Given the description of an element on the screen output the (x, y) to click on. 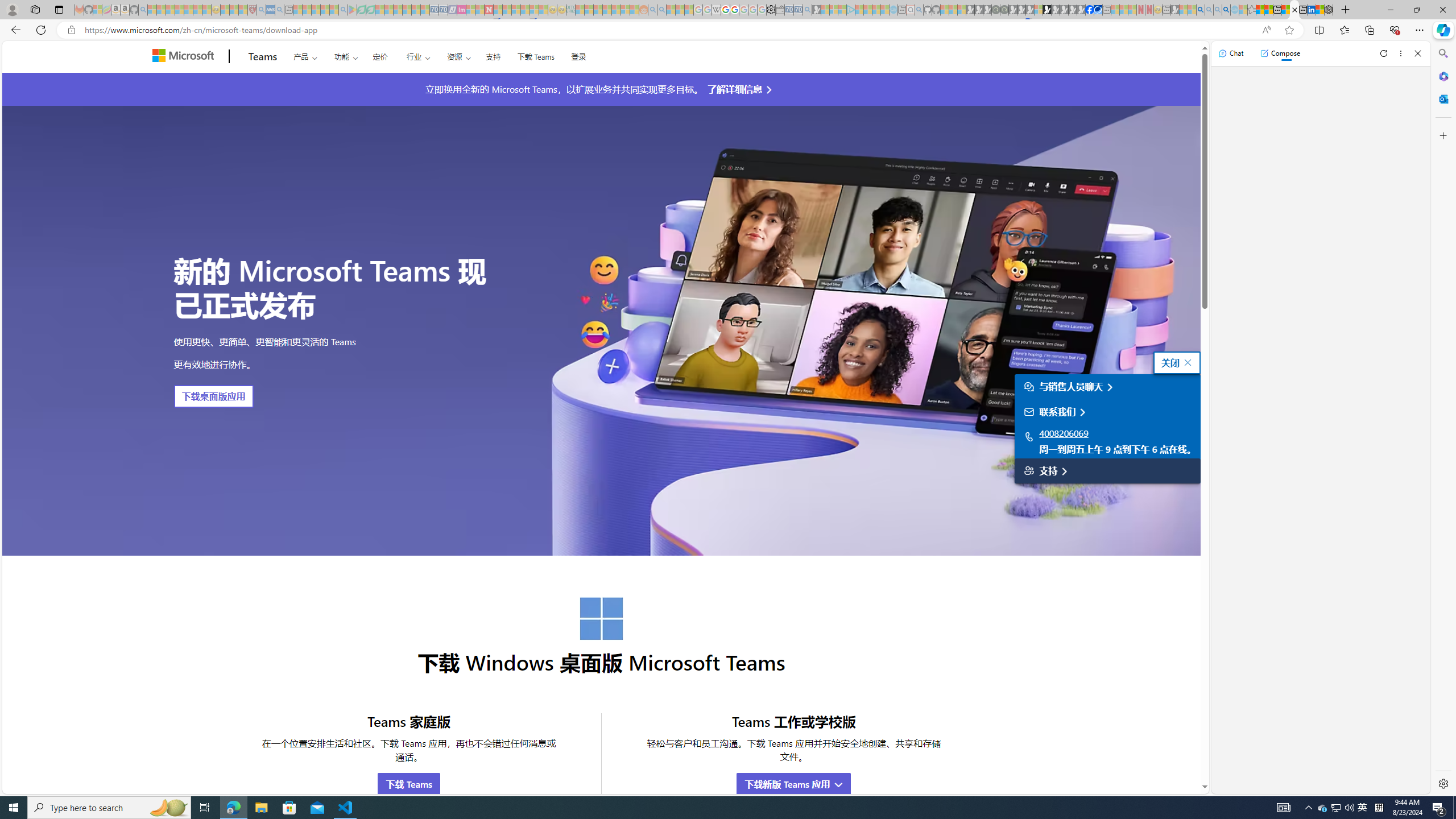
Bluey: Let's Play! - Apps on Google Play - Sleeping (352, 9)
Compose (1279, 52)
Target page - Wikipedia - Sleeping (716, 9)
Nordace | Facebook (1089, 9)
